Given the description of an element on the screen output the (x, y) to click on. 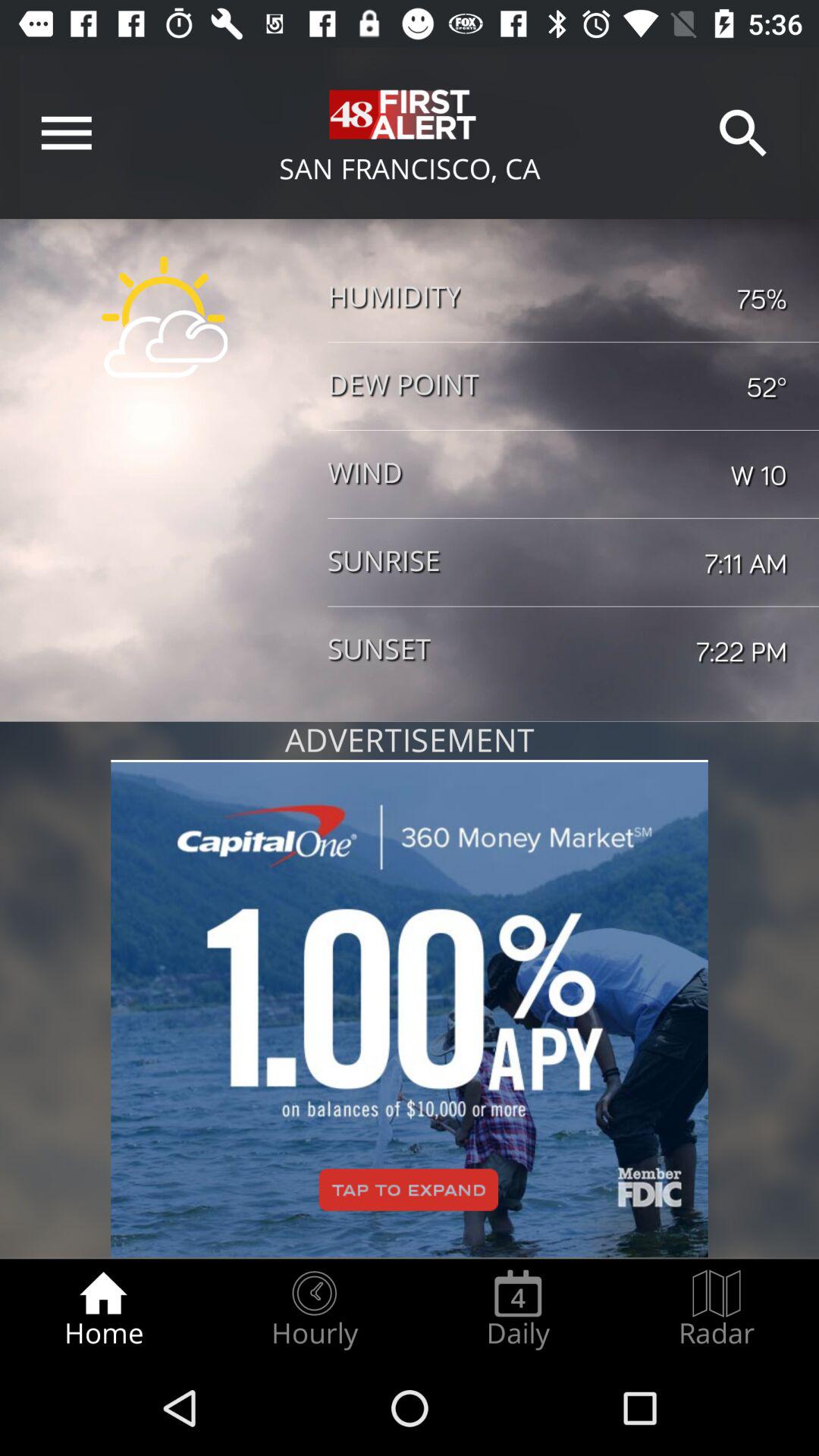
tap the daily radio button (518, 1309)
